Given the description of an element on the screen output the (x, y) to click on. 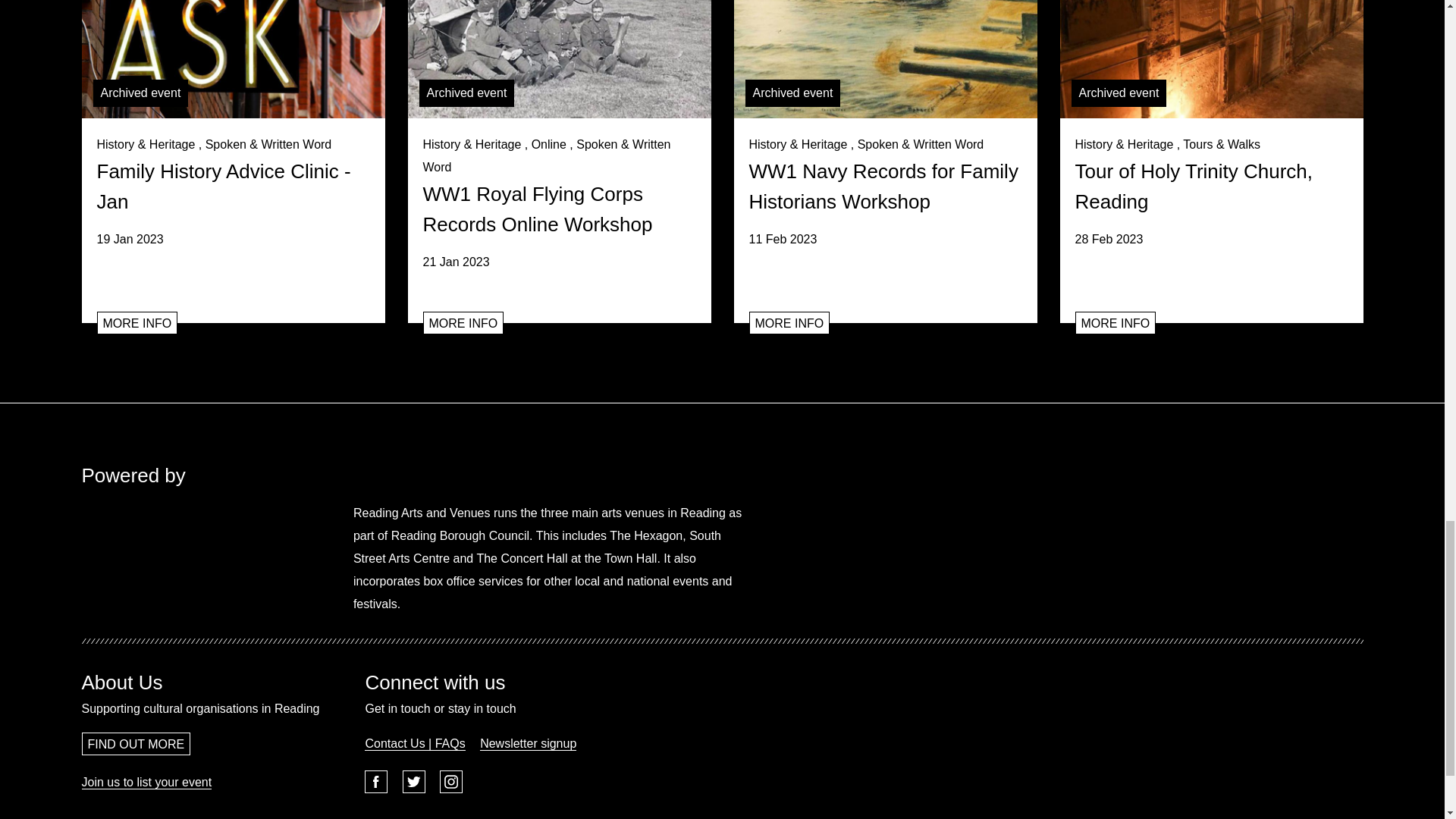
Open Tour of Holy Trinity Church, Reading (1210, 191)
Open WW1 Navy Records for Family Historians  Workshop (884, 58)
Open Family History Advice Clinic - Jan (233, 58)
MORE INFO (463, 323)
Open WW1 Navy Records for Family Historians  Workshop (789, 323)
Open Family History Advice Clinic - Jan (137, 323)
FIND OUT MORE (135, 743)
Open Tour of Holy Trinity Church, Reading (1115, 323)
MORE INFO (789, 323)
Open WW1 Royal Flying Corps Records Online Workshop (559, 203)
